Given the description of an element on the screen output the (x, y) to click on. 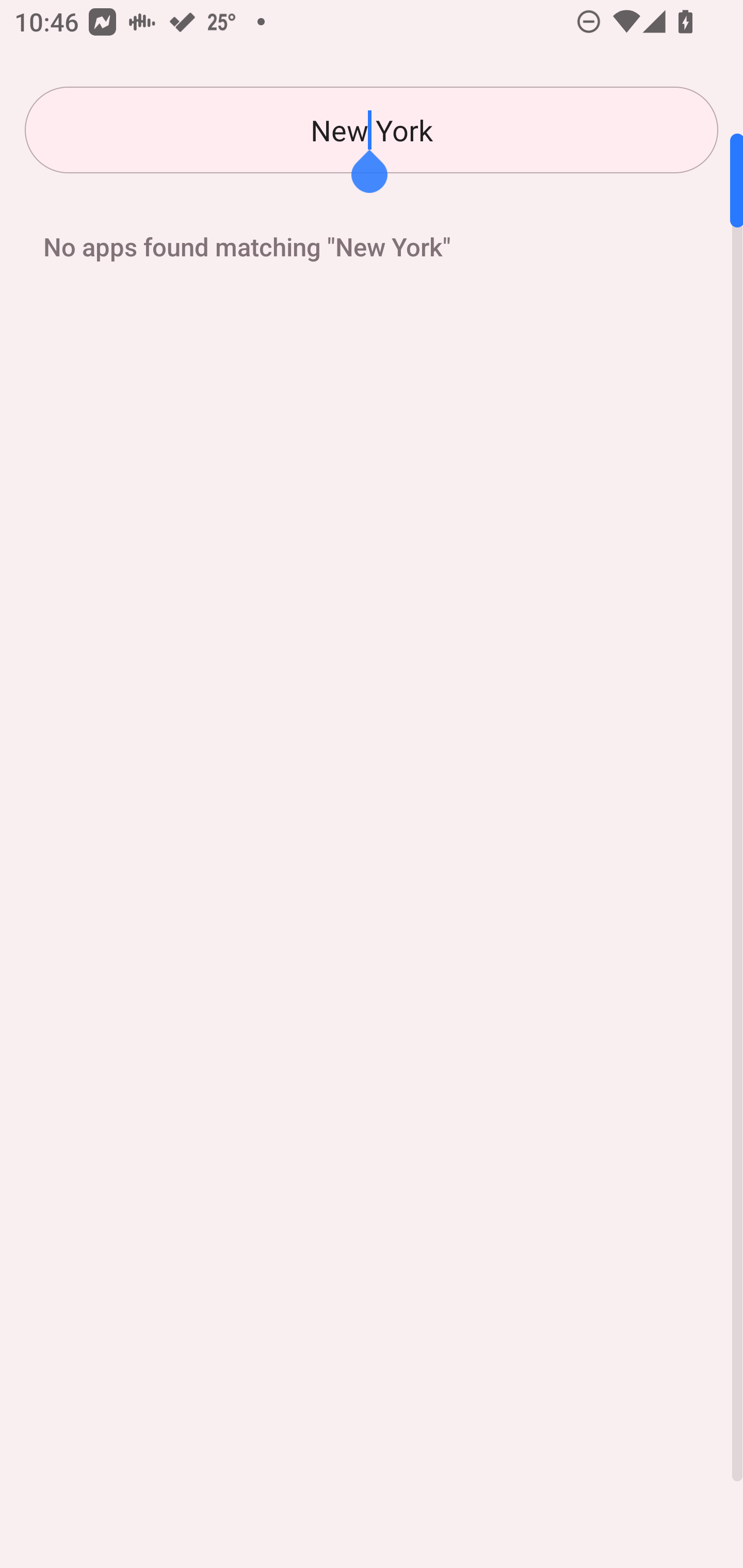
New York (371, 130)
